Given the description of an element on the screen output the (x, y) to click on. 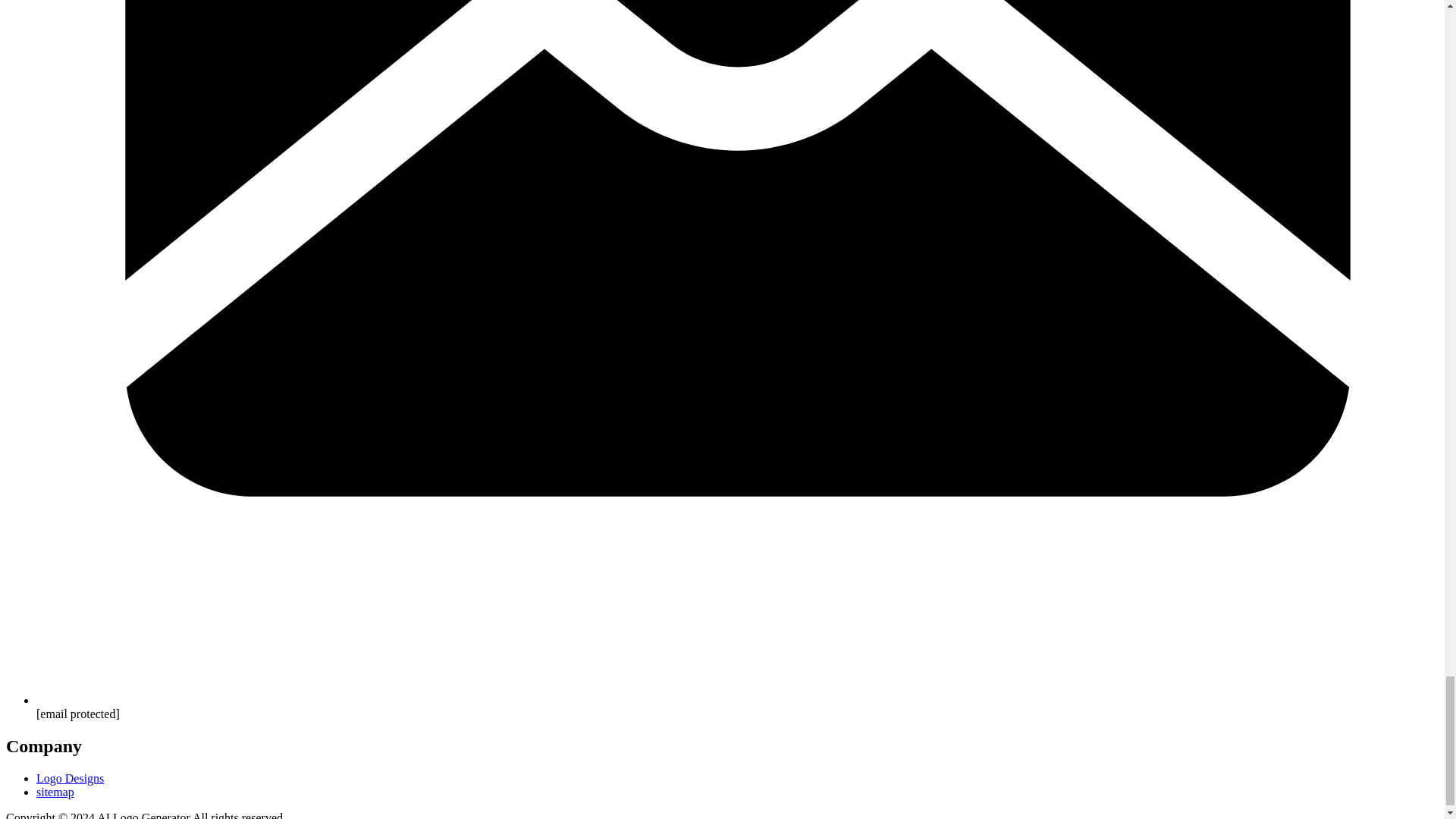
Logo Designs (69, 778)
sitemap (55, 791)
